Given the description of an element on the screen output the (x, y) to click on. 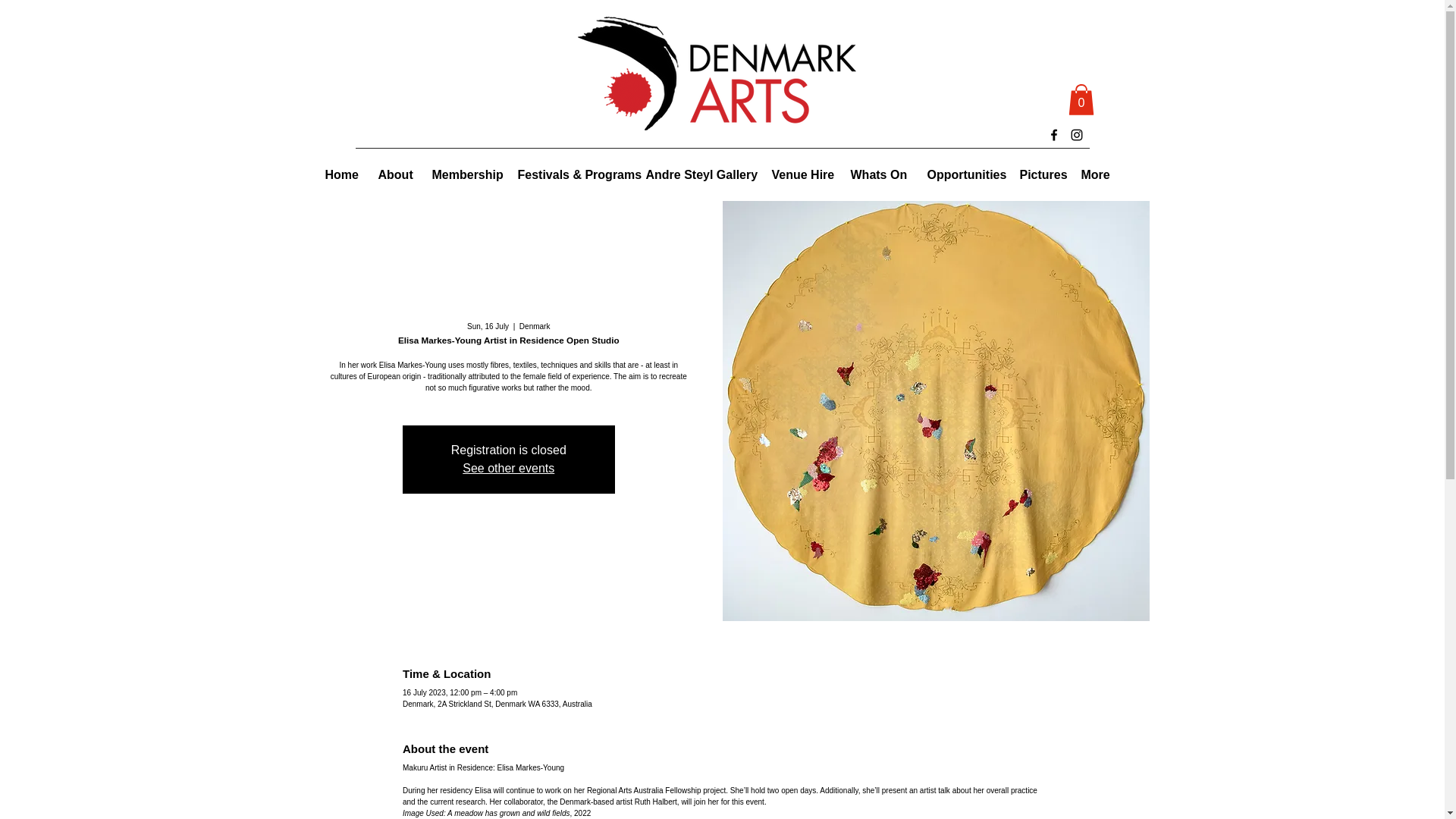
Pictures (1039, 174)
Opportunities (962, 174)
Whats On (876, 174)
Andre Steyl Gallery (696, 174)
Venue Hire (799, 174)
About (393, 174)
Membership (462, 174)
See other events (508, 468)
Home (340, 174)
